Given the description of an element on the screen output the (x, y) to click on. 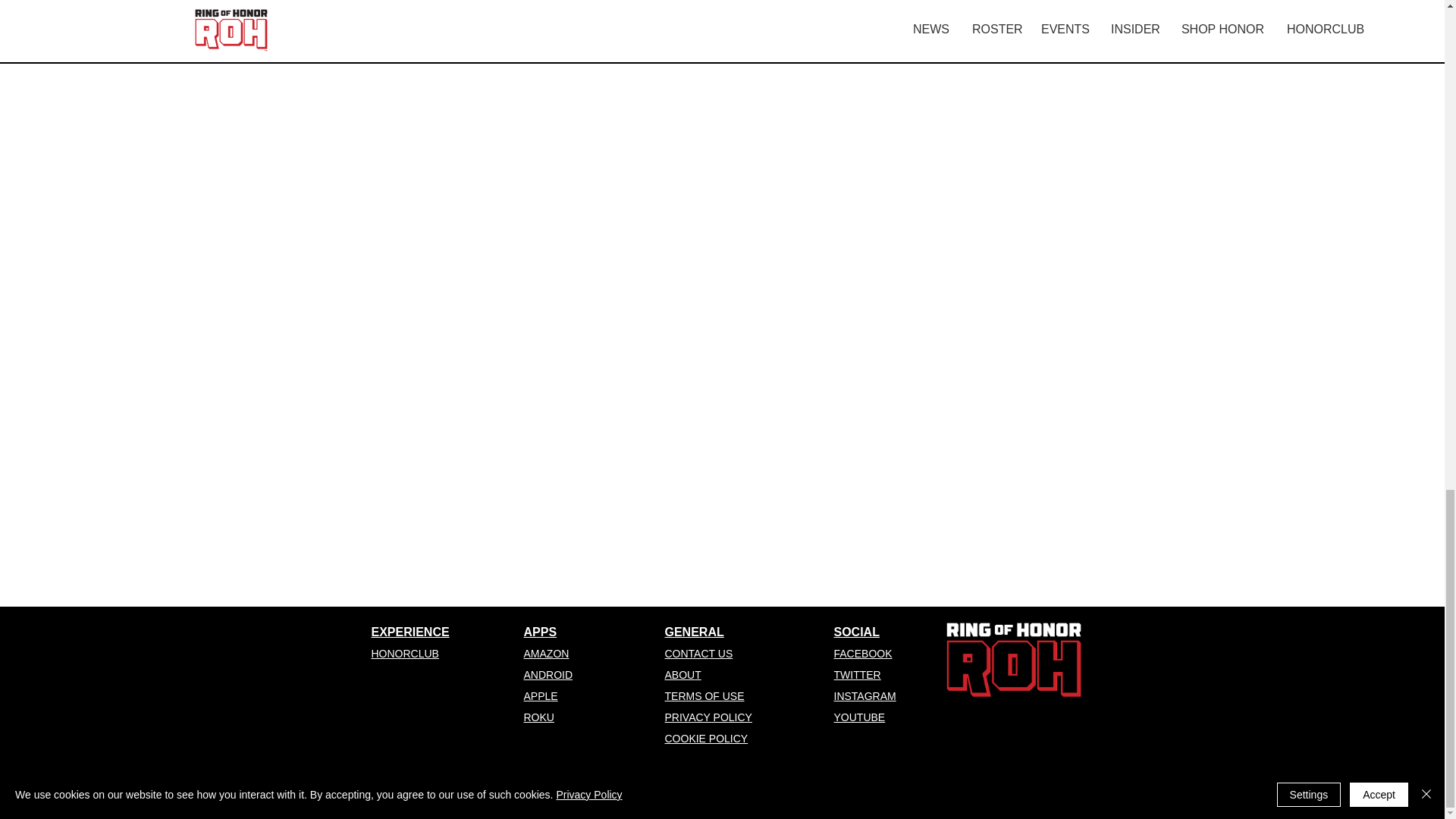
HONORCLUB (405, 653)
TERMS OF USE (703, 695)
PRIVACY POLICY (707, 717)
ANDROID (547, 674)
ABOUT (681, 674)
AMAZON (545, 653)
CONTACT US (697, 653)
YOUTUBE (859, 717)
FACEBOOK (863, 653)
APPLE (539, 695)
ROKU (537, 717)
TWITTER (857, 674)
INSTAGRAM (865, 695)
COOKIE POLICY (705, 738)
